Given the description of an element on the screen output the (x, y) to click on. 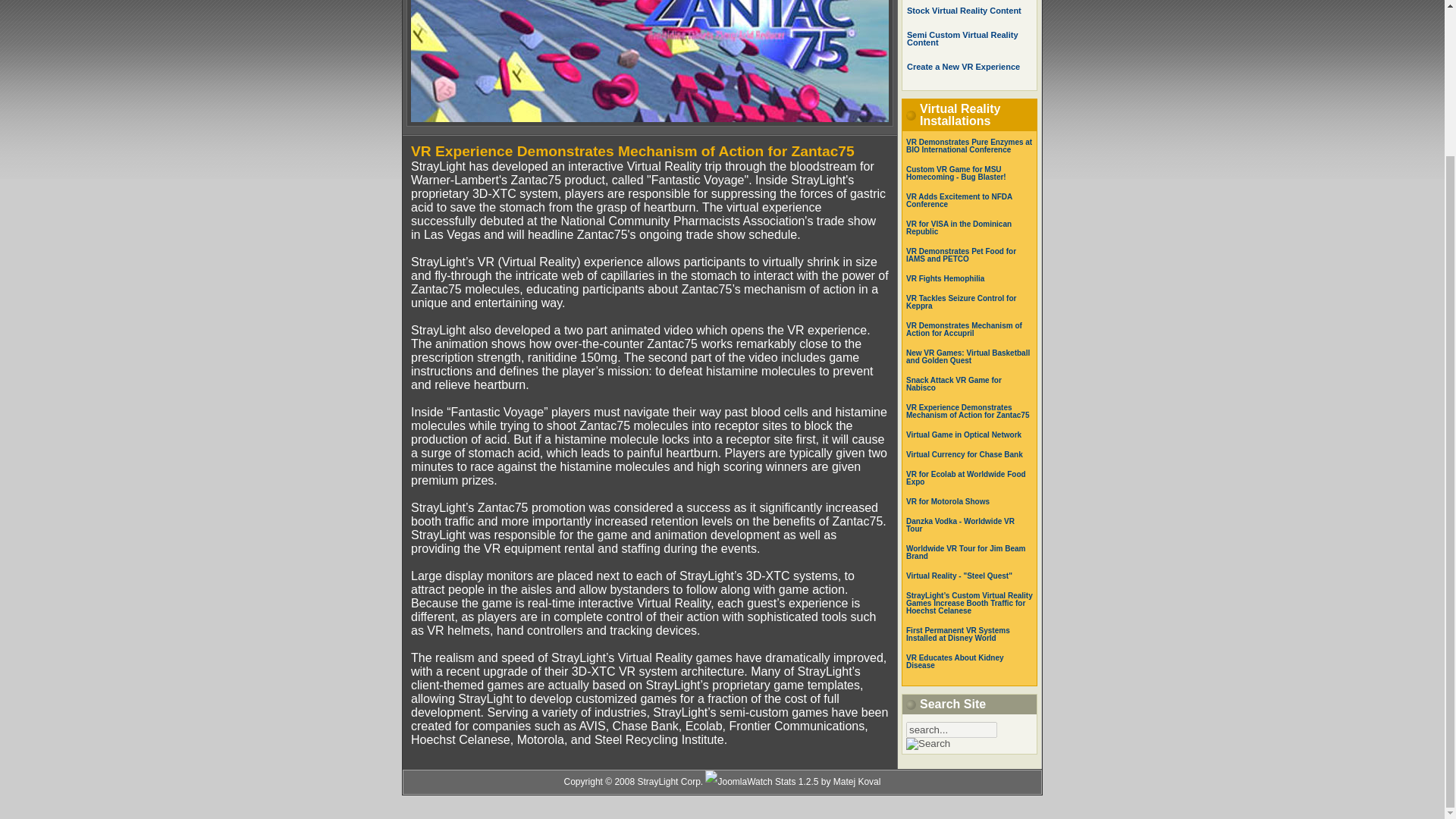
Custom VR Game for MSU Homecoming - Bug Blaster! (955, 172)
VR Experience Demonstrates Mechanism of Action for Zantac75 (967, 411)
VR Demonstrates Mechanism of Action for Accupril (963, 329)
Create a New VR Experience (963, 66)
Virtual Currency for Chase Bank (964, 454)
VR Demonstrates Pet Food for IAMS and PETCO (960, 254)
Danzka Vodka - Worldwide VR Tour (959, 524)
Virtual Reality - "Steel Quest" (958, 575)
Stock Virtual Reality Content (964, 10)
VR for Motorola Shows (947, 501)
JoomlaWatch Stats 1.2.5 (792, 781)
VR Tackles Seizure Control for Keppra (960, 302)
Worldwide VR Tour for Jim Beam Brand (965, 552)
First Permanent VR Systems Installed at Disney World (957, 634)
Semi Custom Virtual Reality Content (962, 38)
